Given the description of an element on the screen output the (x, y) to click on. 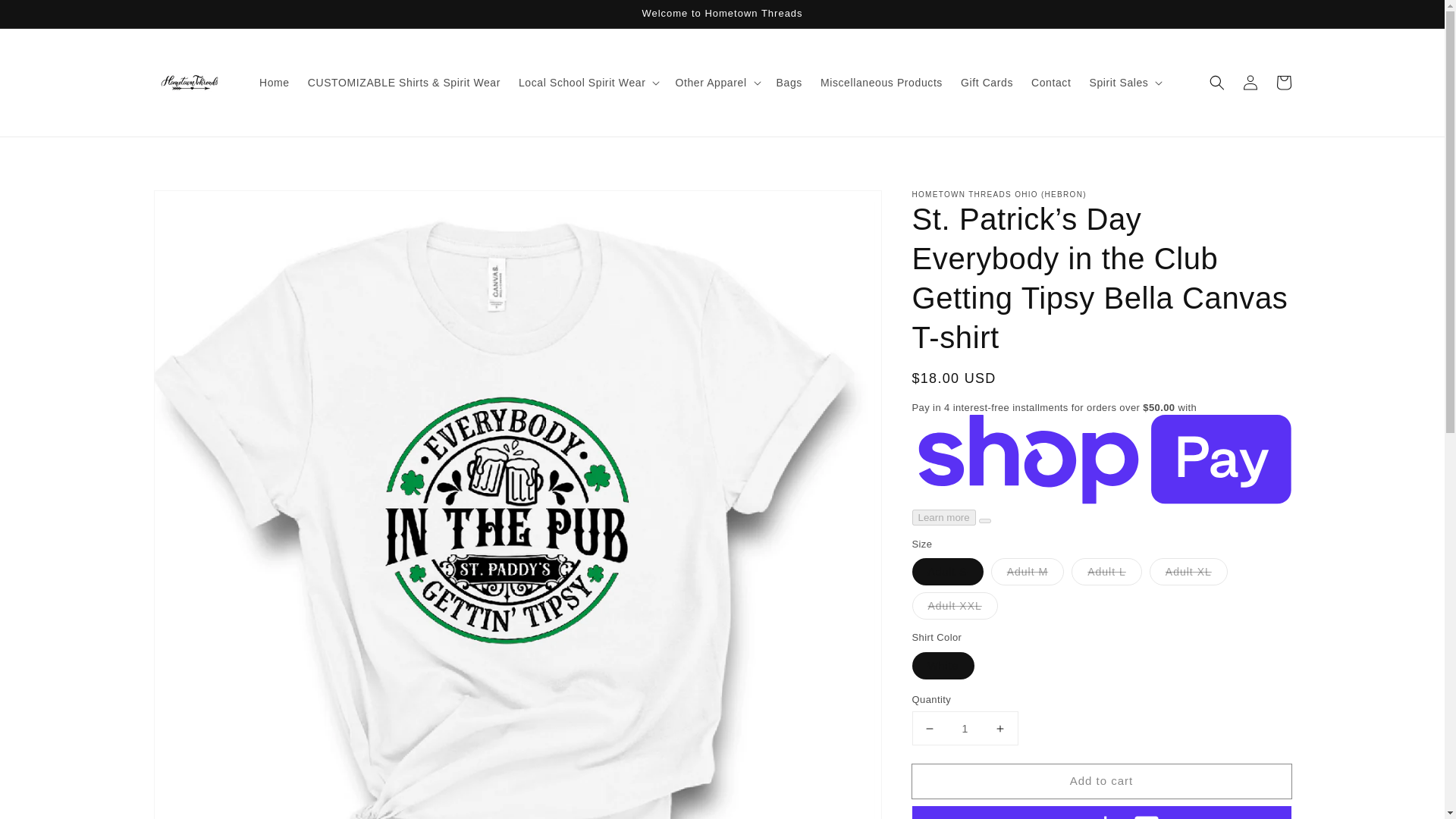
1 (964, 727)
Skip to content (45, 16)
